Given the description of an element on the screen output the (x, y) to click on. 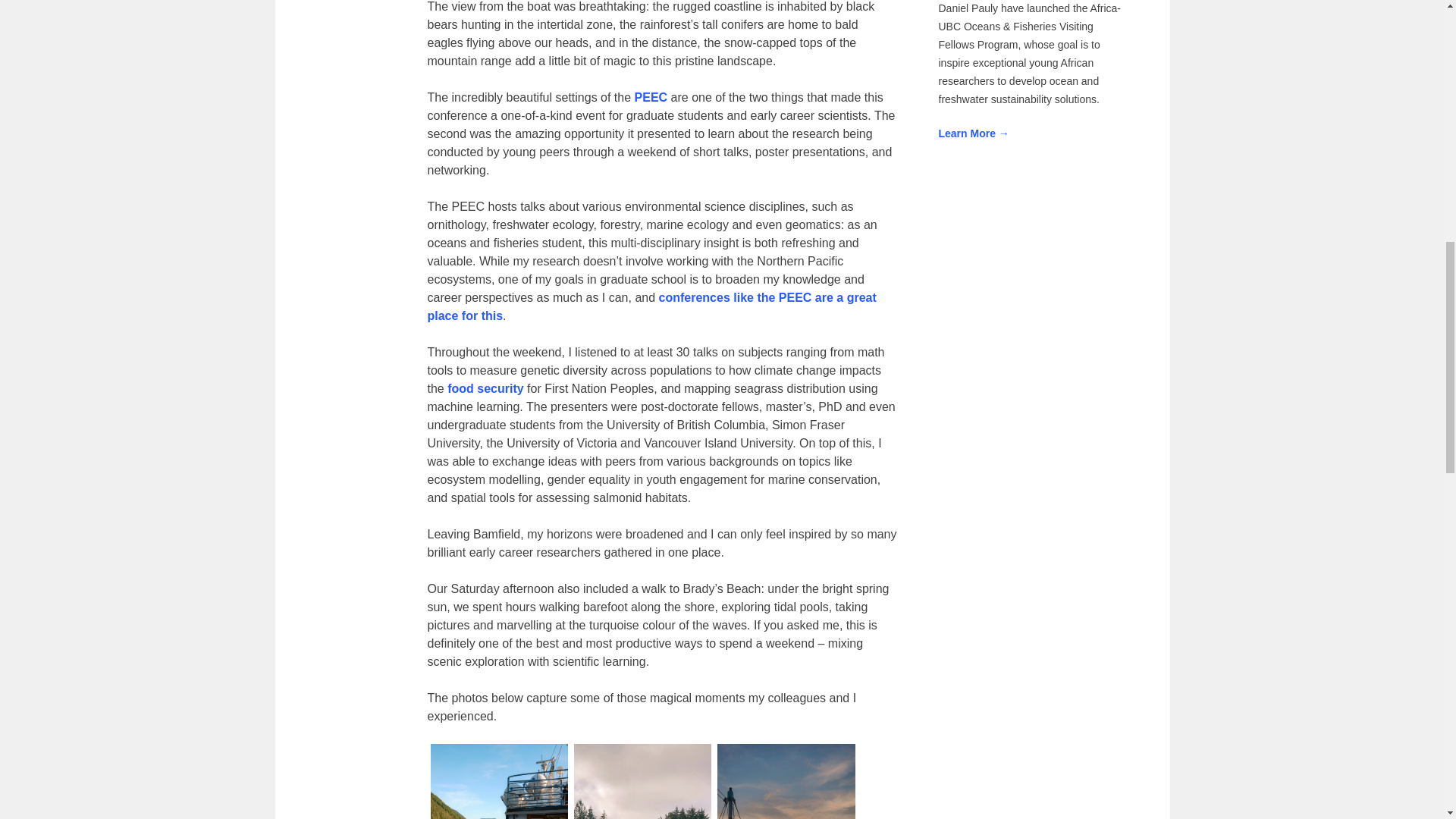
PEEC (651, 97)
conferences like the PEEC are a great place for this (652, 306)
